Given the description of an element on the screen output the (x, y) to click on. 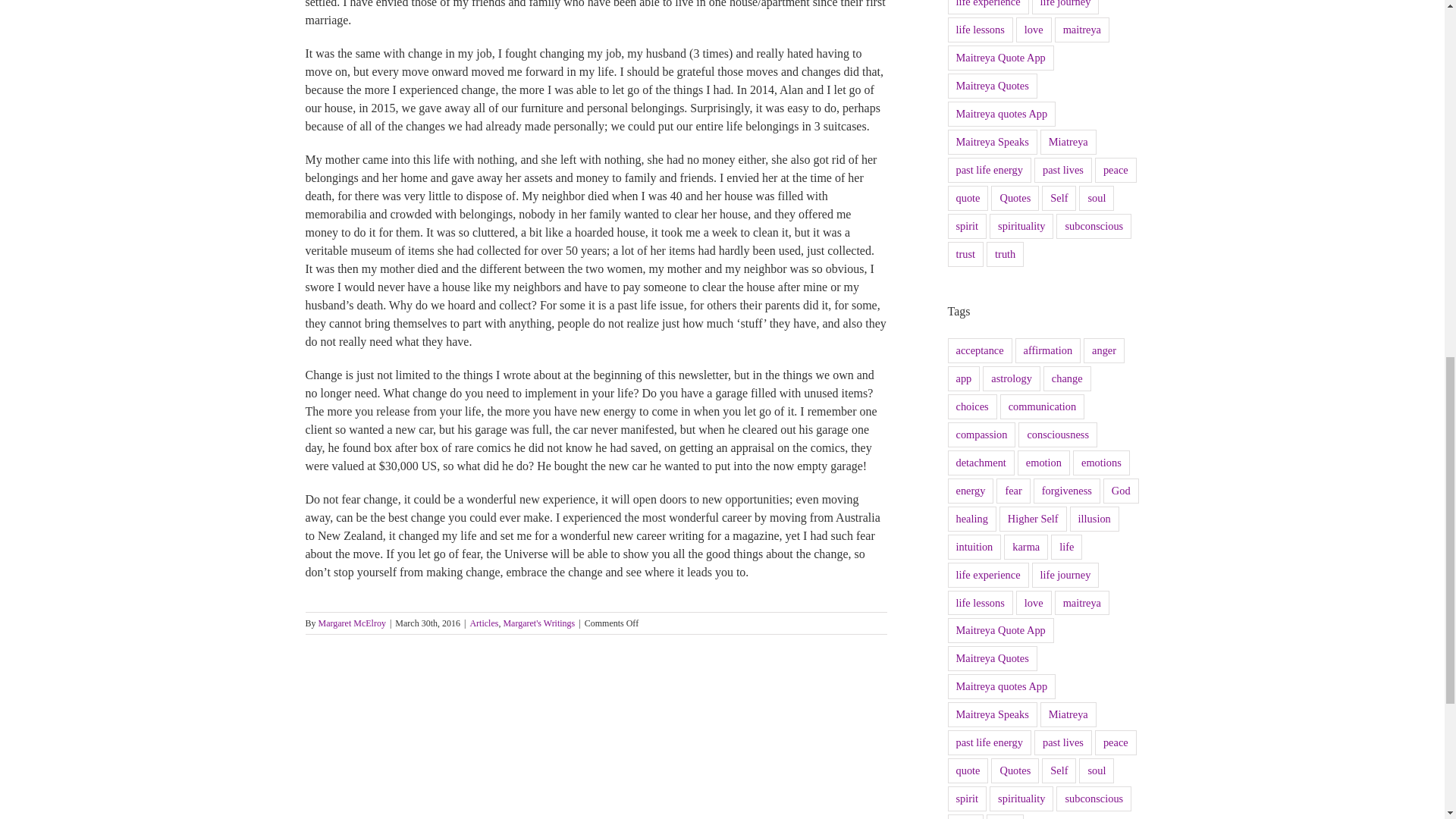
Posts by Margaret McElroy (351, 623)
